Given the description of an element on the screen output the (x, y) to click on. 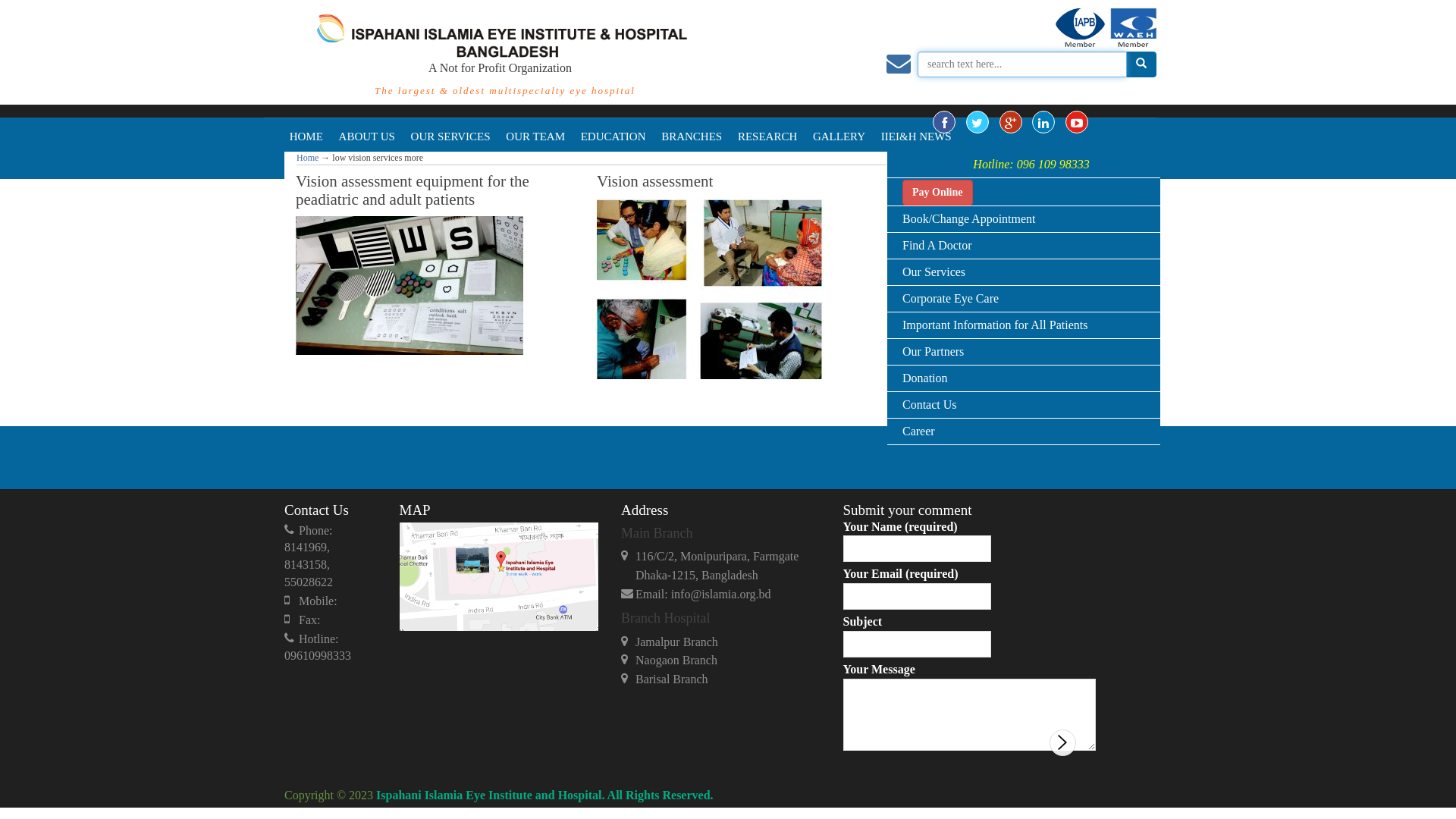
Barisal Branch Element type: text (720, 679)
Linkedin Element type: hover (1043, 121)
HOME Element type: text (308, 134)
Twitter Element type: hover (977, 121)
Hotline: 096 109 98333 Element type: text (1030, 163)
Search Element type: text (1141, 64)
Our Services Element type: text (933, 271)
BRANCHES Element type: text (694, 134)
World Association of Eye Hospitals (WAEH) Element type: hover (1132, 28)
OUR SERVICES Element type: text (452, 134)
Corporate Eye Care Element type: text (950, 297)
EDUCATION Element type: text (615, 134)
Important Information for All Patients Element type: text (994, 324)
Facebook Element type: hover (943, 121)
OUR TEAM Element type: text (537, 134)
Find A Doctor Element type: text (937, 244)
IIEI&H NEWS Element type: text (918, 134)
Book/Change Appointment Element type: text (968, 218)
Pay Online Element type: text (937, 192)
Home Element type: text (307, 157)
Contact Us Element type: text (929, 404)
International Agency for the Prevention of Blindness (IAPB) Element type: hover (1079, 28)
Google + Element type: hover (1010, 121)
RESEARCH Element type: text (769, 134)
GALLERY Element type: text (841, 134)
Our Partners Element type: text (932, 351)
Career Element type: text (918, 430)
Naogaon Branch Element type: text (720, 660)
Youtube Element type: hover (1076, 121)
Jamalpur Branch Element type: text (720, 642)
ABOUT US Element type: text (368, 134)
Send Element type: text (1062, 742)
Donation Element type: text (924, 377)
